Given the description of an element on the screen output the (x, y) to click on. 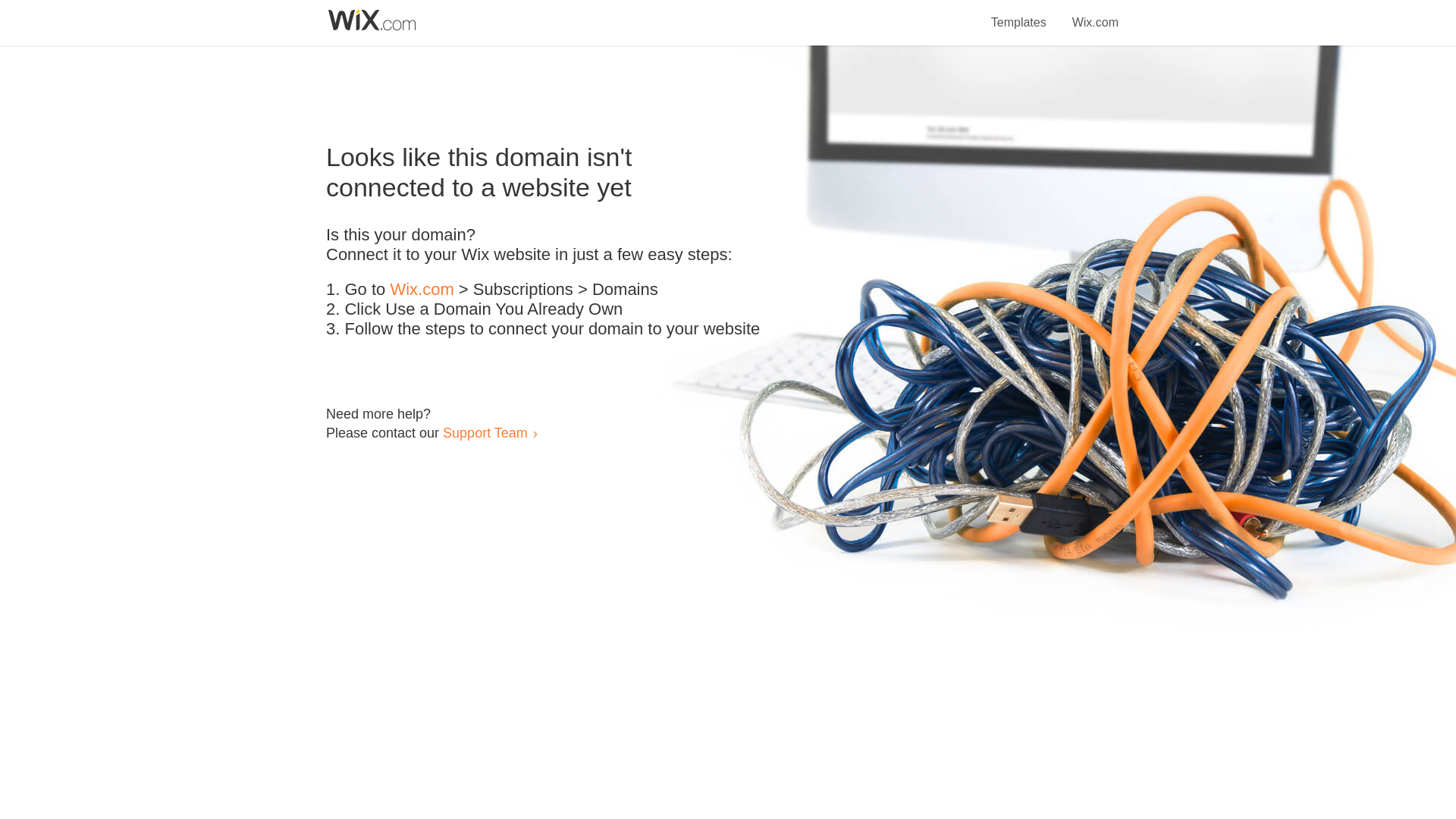
Wix.com (421, 289)
Wix.com (1095, 14)
Support Team (484, 432)
Templates (1018, 14)
